Given the description of an element on the screen output the (x, y) to click on. 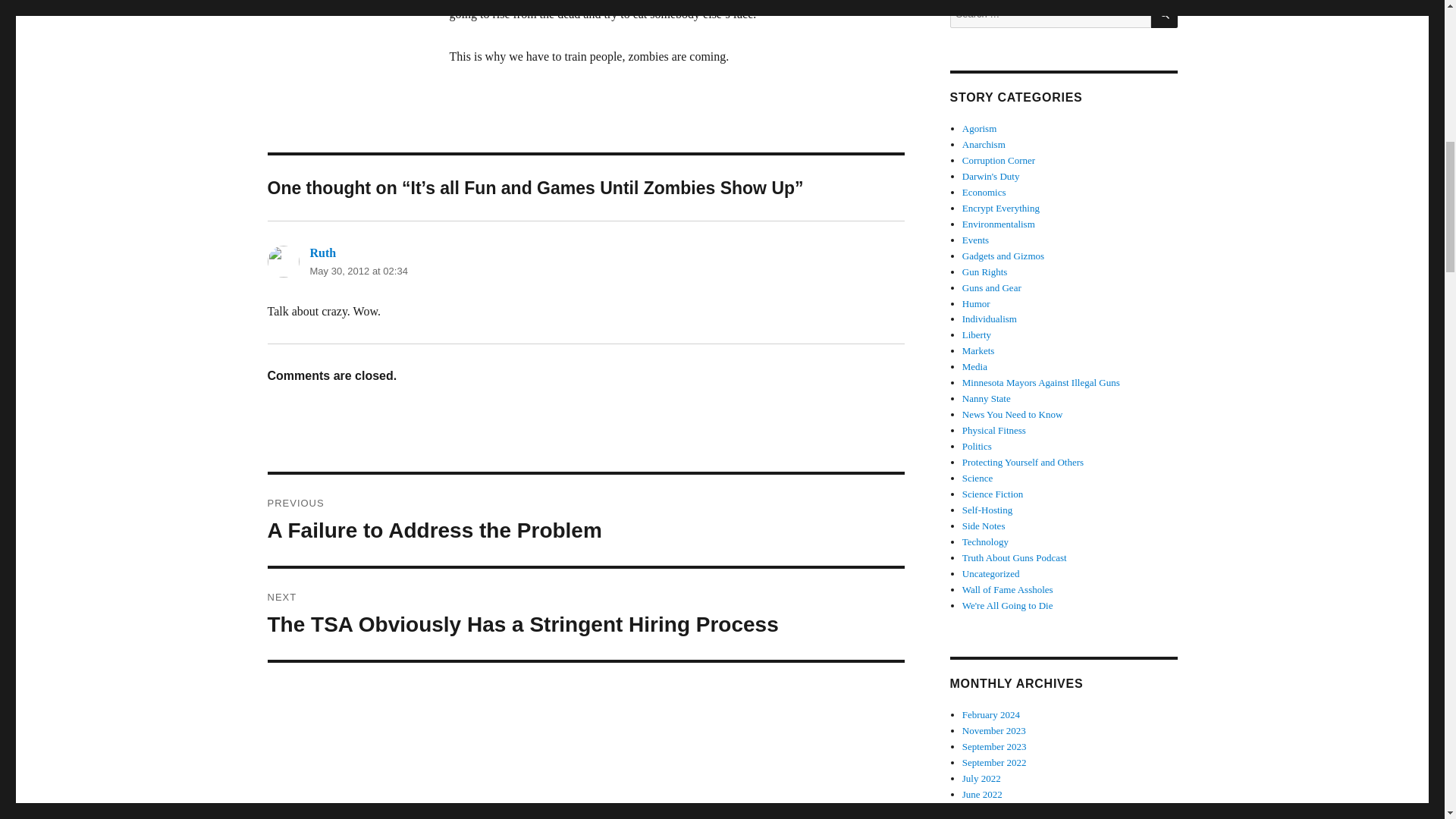
Liberty (976, 334)
Guns and Gear (992, 287)
Protecting Yourself and Others (1022, 461)
Economics (984, 192)
Individualism (989, 318)
Gadgets and Gizmos (1002, 255)
SEARCH (1164, 14)
Corruption Corner (998, 160)
News You Need to Know (585, 520)
